Given the description of an element on the screen output the (x, y) to click on. 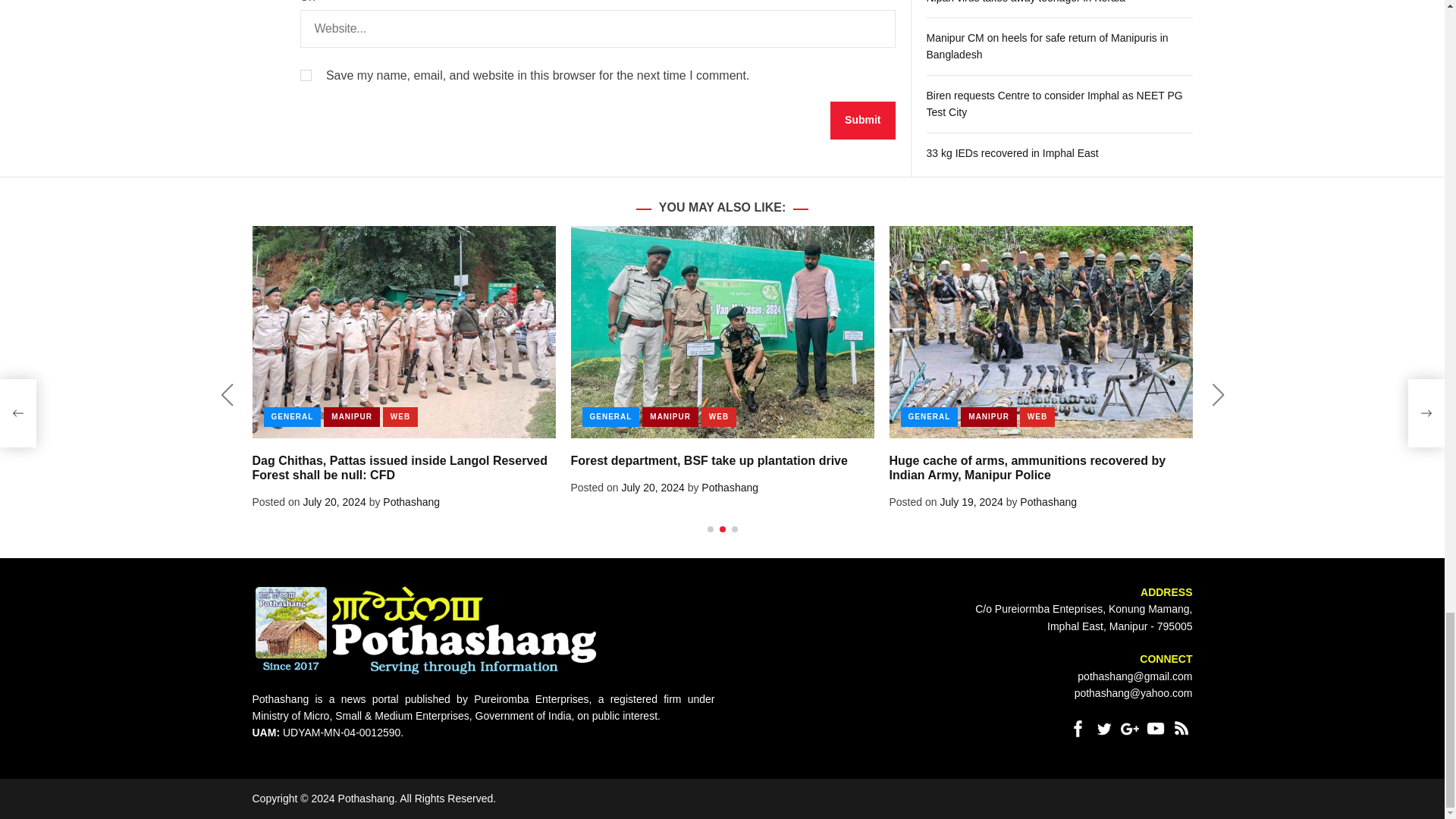
yes (305, 75)
Submit (862, 120)
Submit (862, 120)
